Given the description of an element on the screen output the (x, y) to click on. 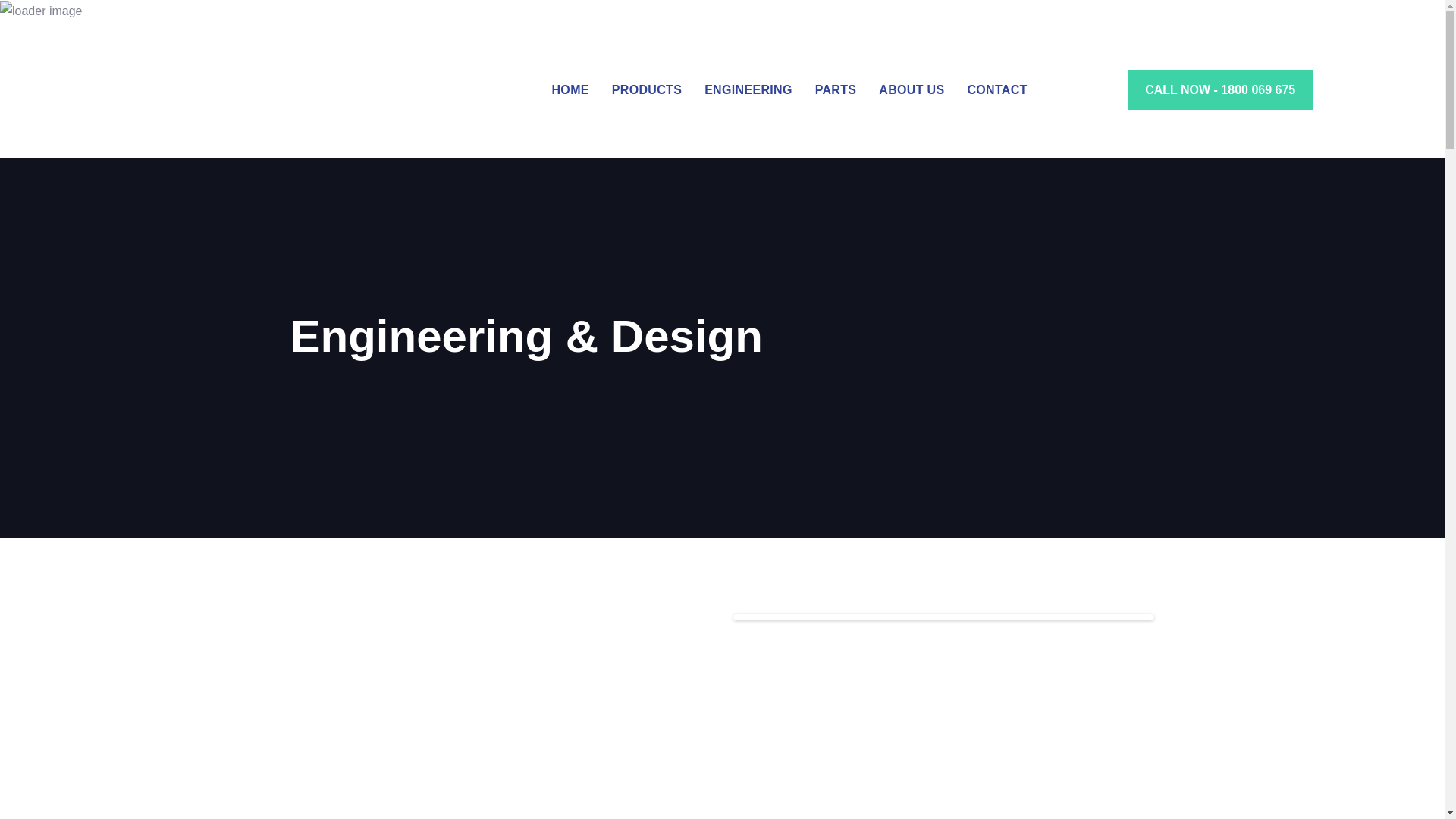
PRODUCTS (646, 89)
solidworks (943, 719)
CONTACT (996, 89)
CALL NOW - 1800 069 675 (1220, 89)
HOME (569, 89)
ABOUT US (911, 89)
ENGINEERING (748, 89)
PARTS (835, 89)
